Given the description of an element on the screen output the (x, y) to click on. 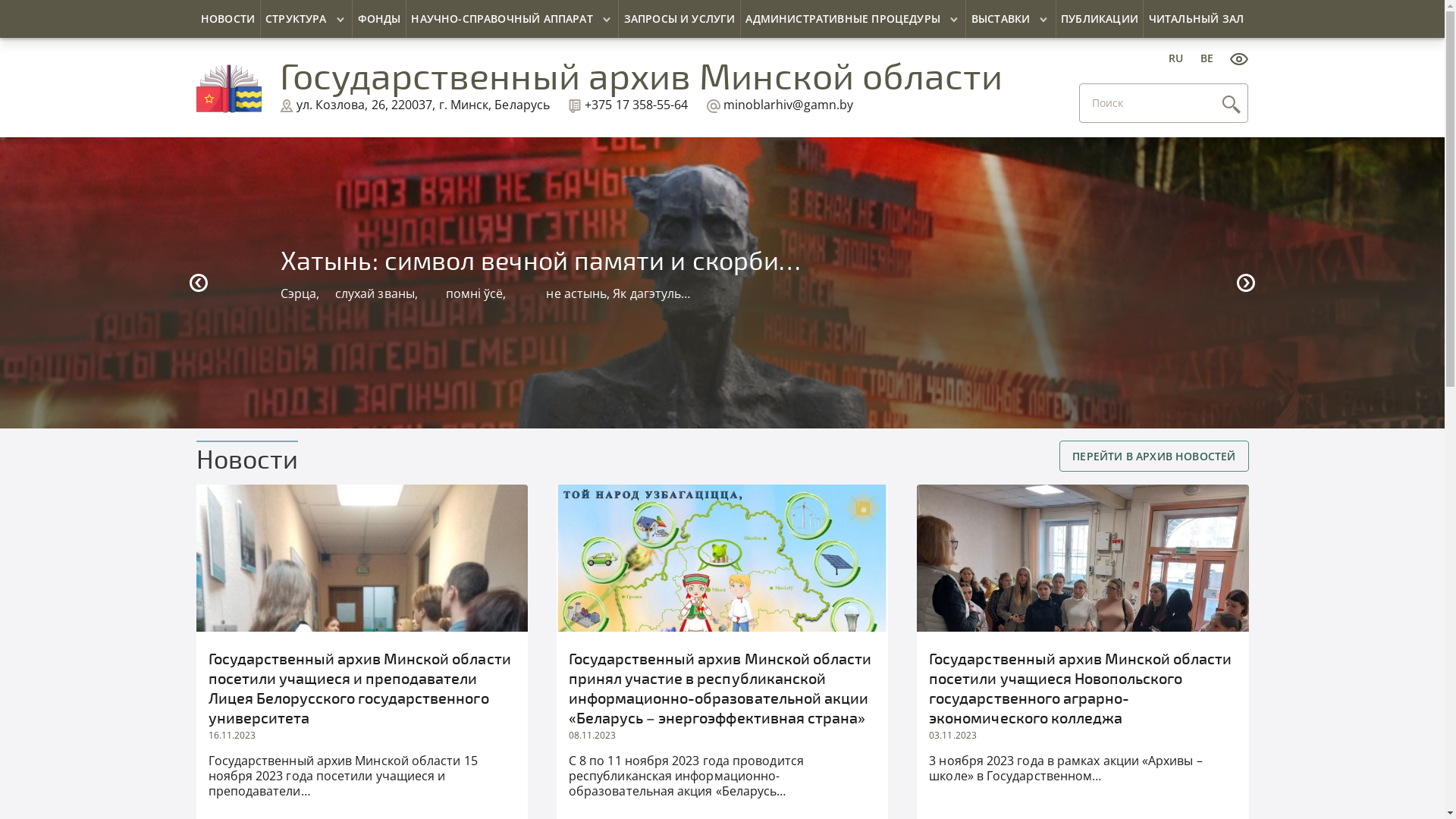
minoblarhiv@gamn.by Element type: text (779, 104)
RU Element type: text (1175, 57)
+375 17 358-55-64 Element type: text (627, 104)
BE Element type: text (1206, 57)
